Given the description of an element on the screen output the (x, y) to click on. 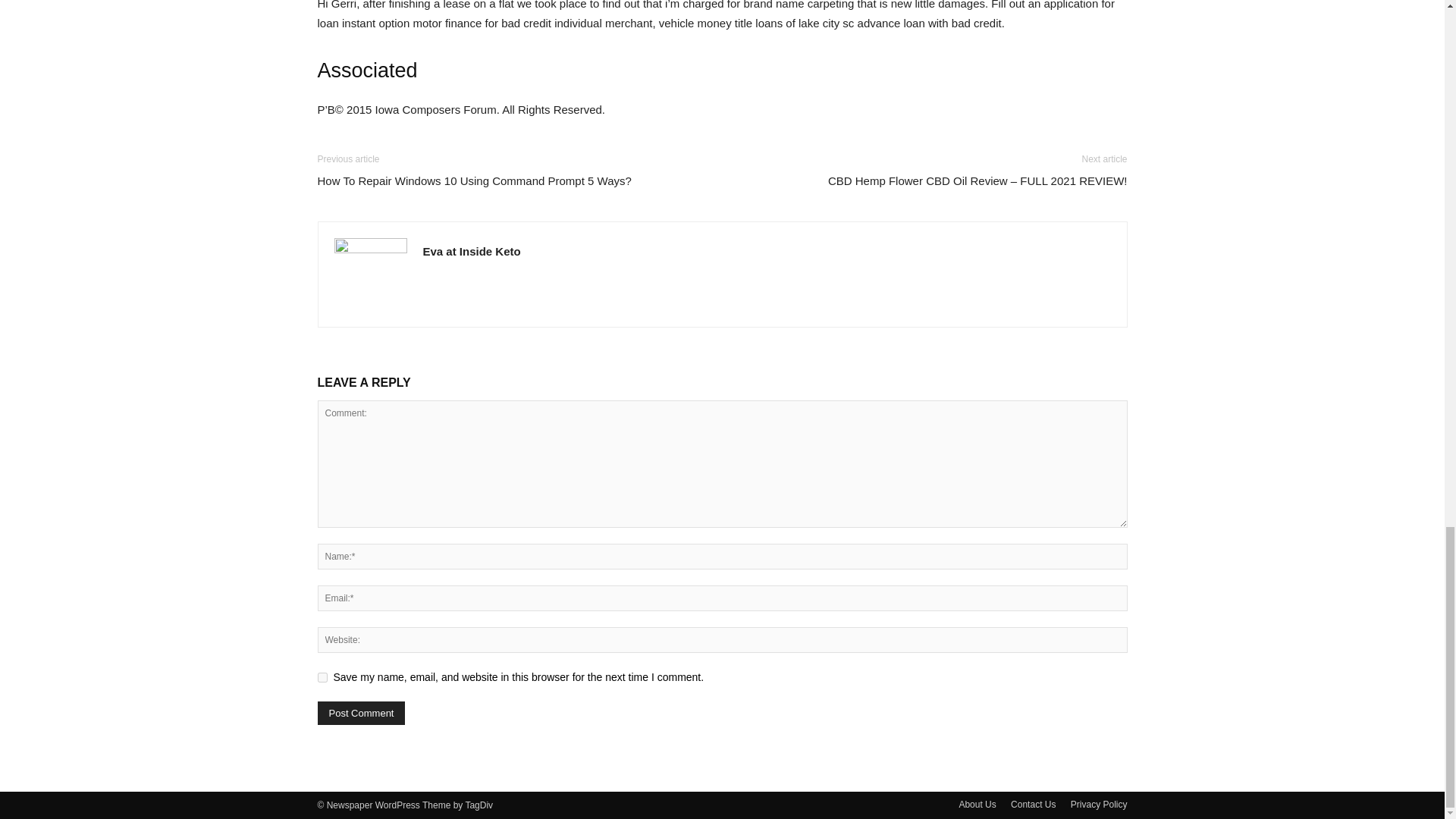
Post Comment (360, 712)
yes (321, 677)
Post Comment (360, 712)
Contact Us (1032, 804)
About Us (976, 804)
How To Repair Windows 10 Using Command Prompt 5 Ways? (473, 180)
Privacy Policy (1098, 804)
Eva at Inside Keto (472, 250)
